Given the description of an element on the screen output the (x, y) to click on. 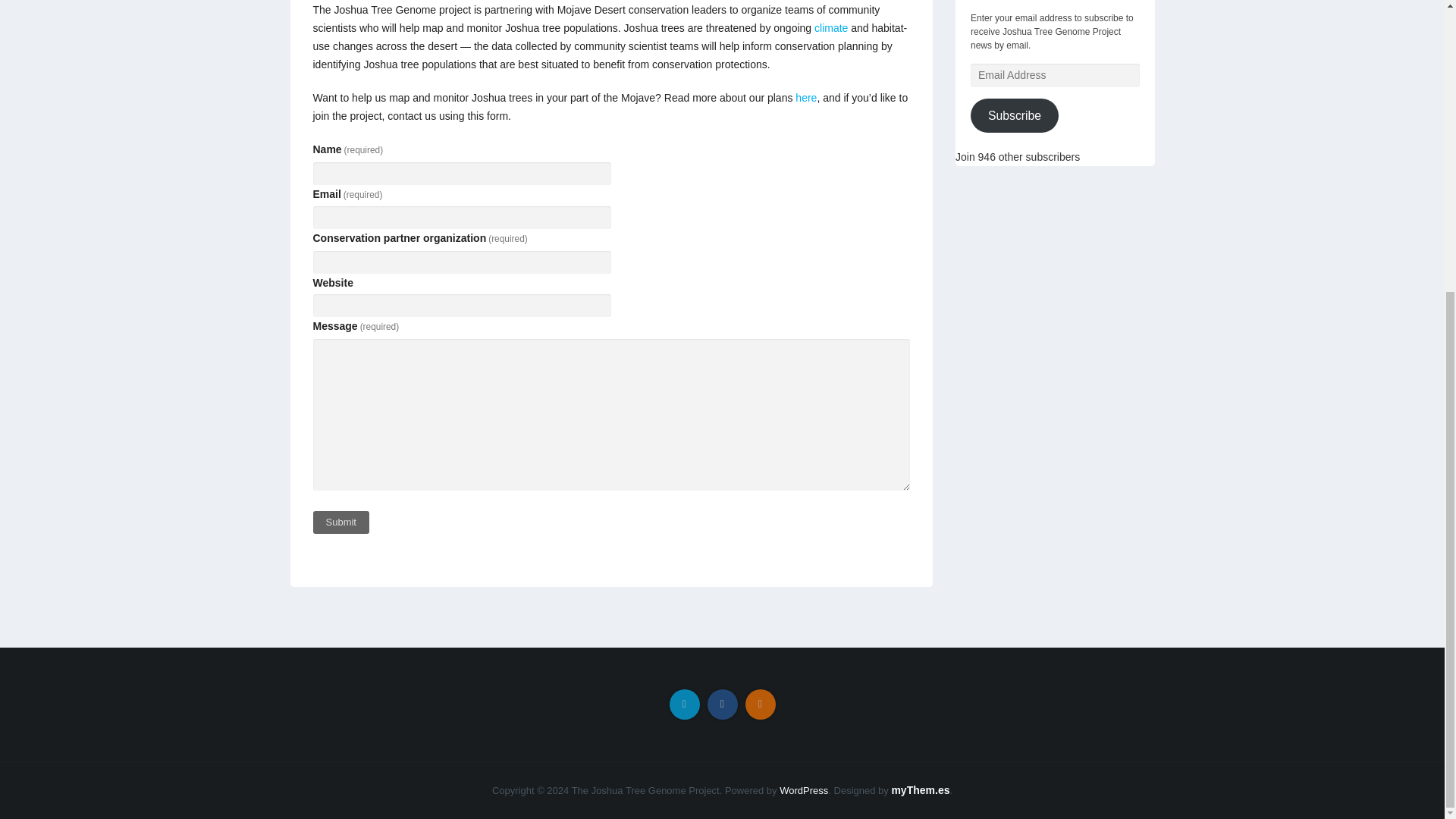
myThem.es (920, 789)
Submit (340, 522)
here (805, 97)
WordPress (803, 790)
climate (830, 28)
myThem.es (920, 789)
Subscribe (1014, 115)
